Given the description of an element on the screen output the (x, y) to click on. 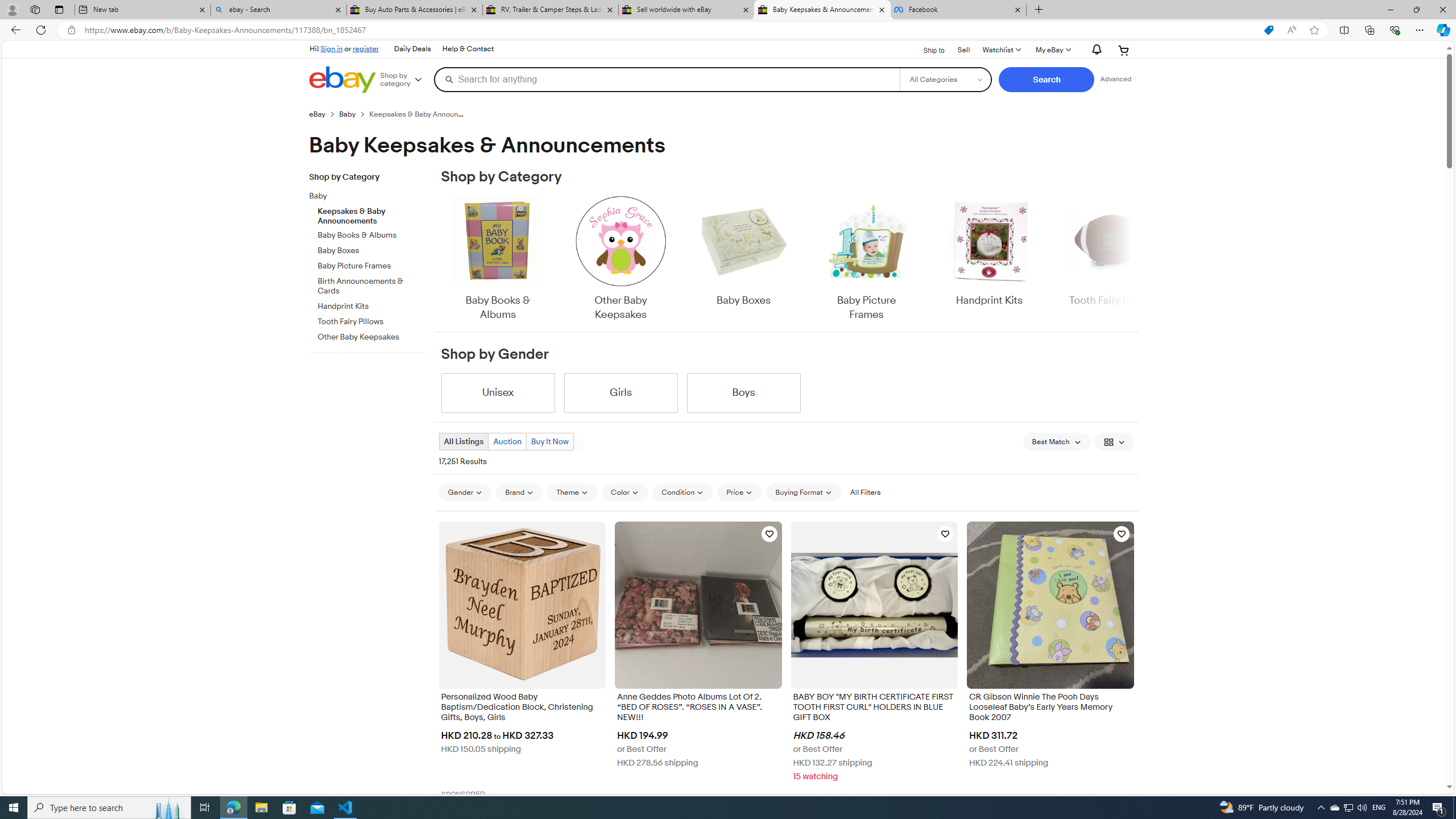
All Filters (864, 492)
Shop by category (405, 79)
All Listings (463, 441)
Your shopping cart (1123, 49)
Baby Books & Albums (497, 258)
Brand (519, 492)
WatchlistExpand Watch List (1000, 49)
eBay (317, 113)
Advanced Search (1115, 78)
Gender (465, 492)
